Given the description of an element on the screen output the (x, y) to click on. 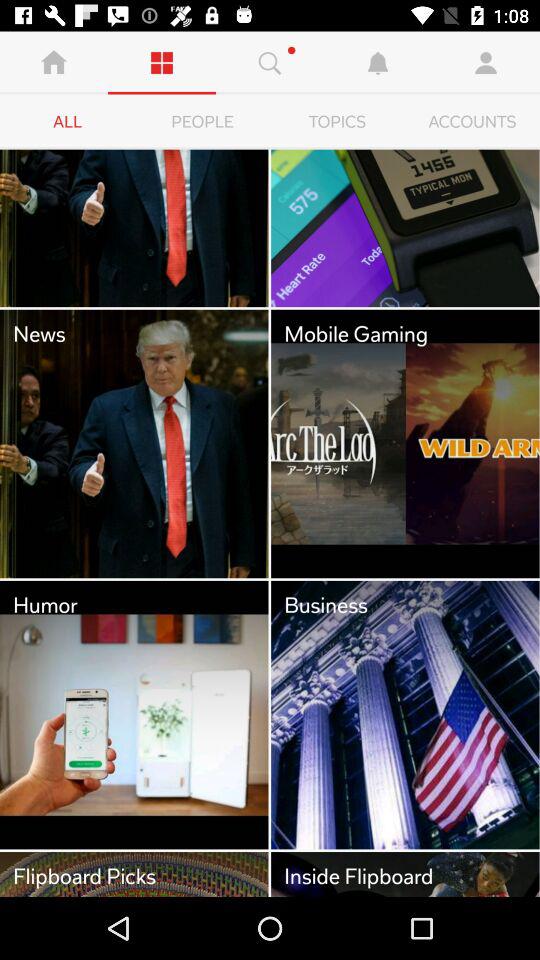
select the icon next to all item (202, 121)
